Given the description of an element on the screen output the (x, y) to click on. 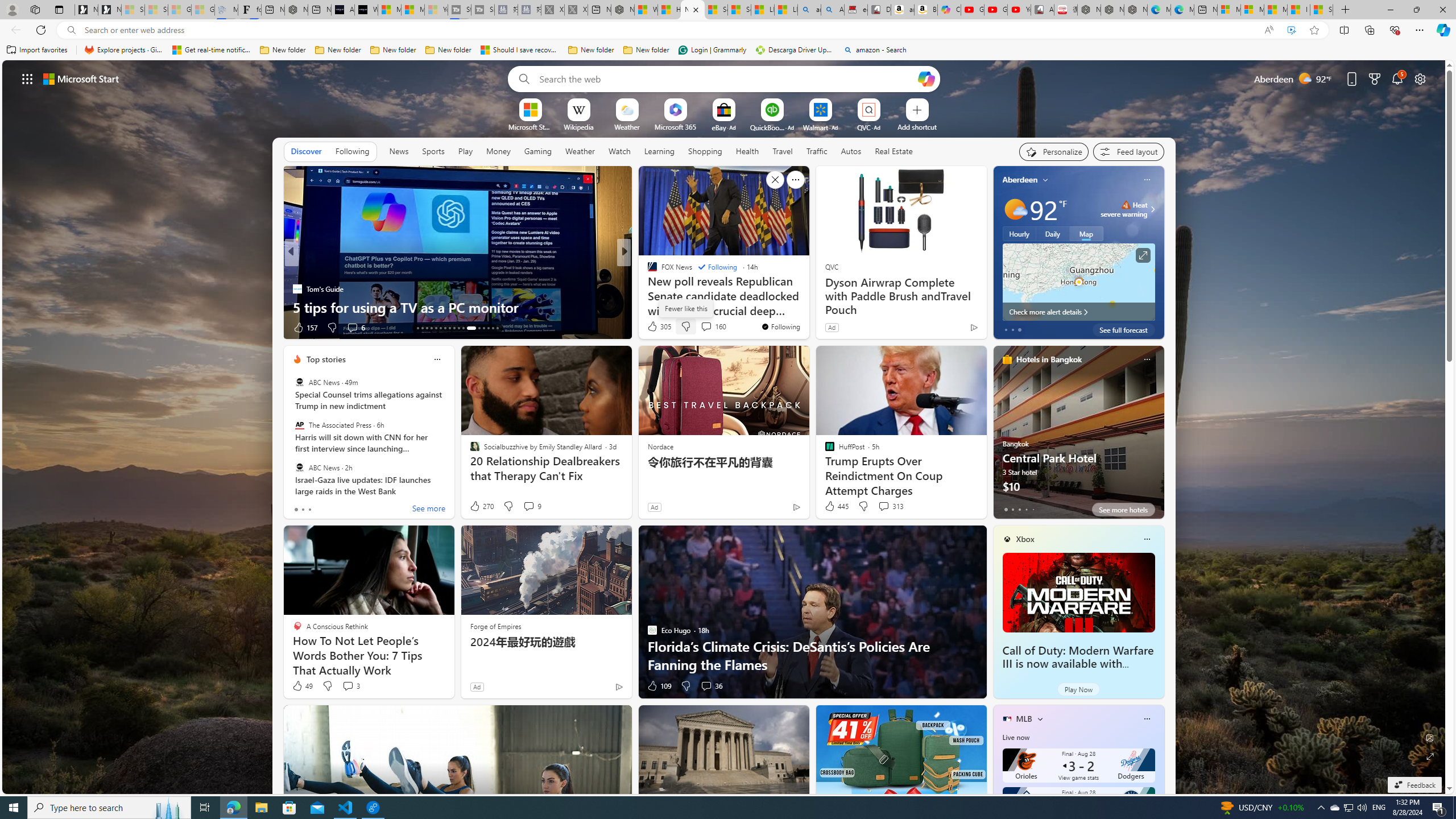
Liron Segev (647, 288)
